Given the description of an element on the screen output the (x, y) to click on. 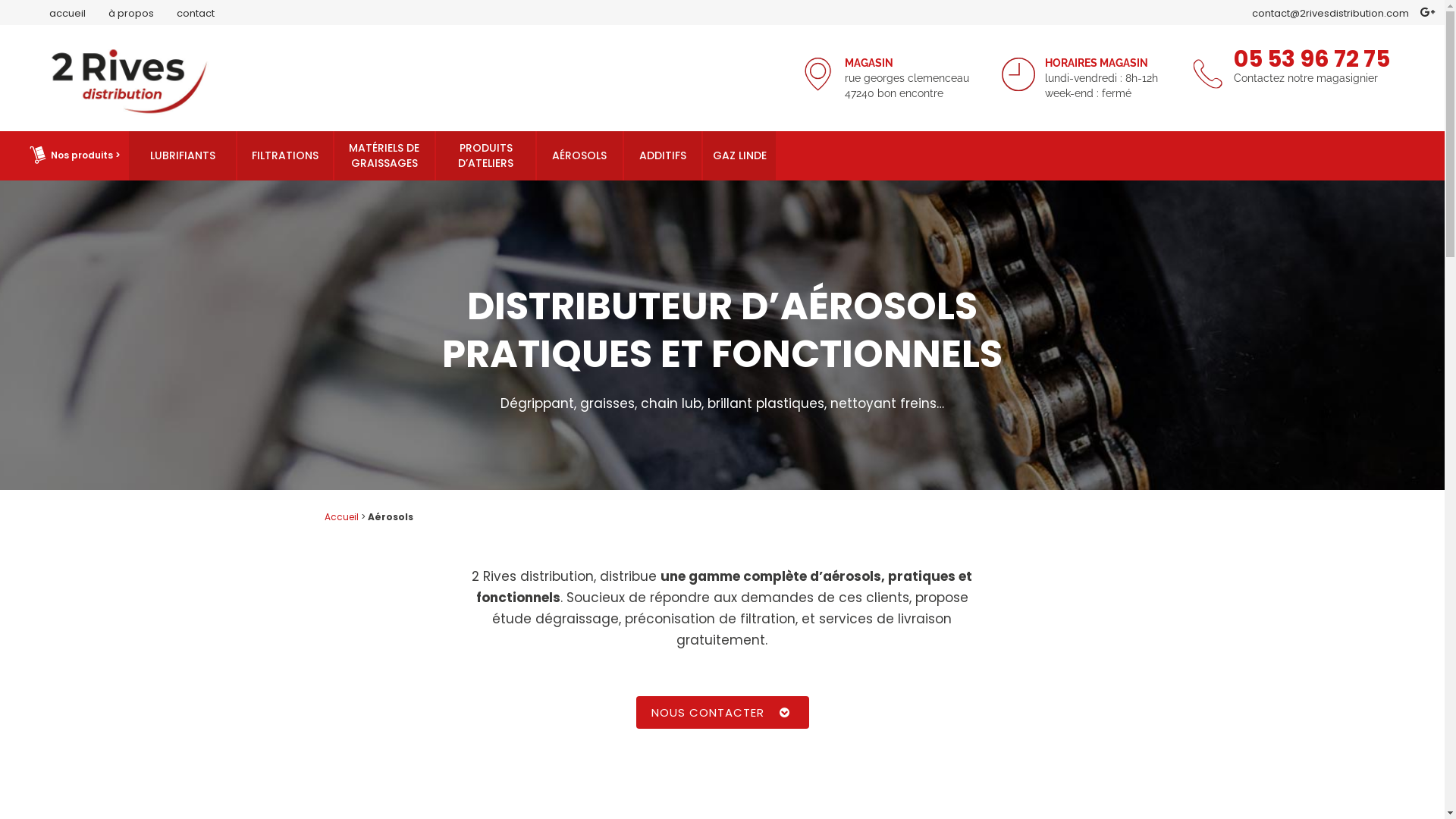
NOUS CONTACTER   Element type: text (721, 712)
accueil Element type: text (48, 13)
LUBRIFIANTS Element type: text (182, 155)
FILTRATIONS Element type: text (284, 155)
rue georges clemenceau
47240 bon encontre Element type: text (906, 85)
GAZ LINDE Element type: text (739, 155)
Accueil Element type: text (341, 516)
ADDITIFS Element type: text (662, 155)
contact Element type: text (183, 13)
contact@2rivesdistribution.com Element type: text (1330, 13)
